Given the description of an element on the screen output the (x, y) to click on. 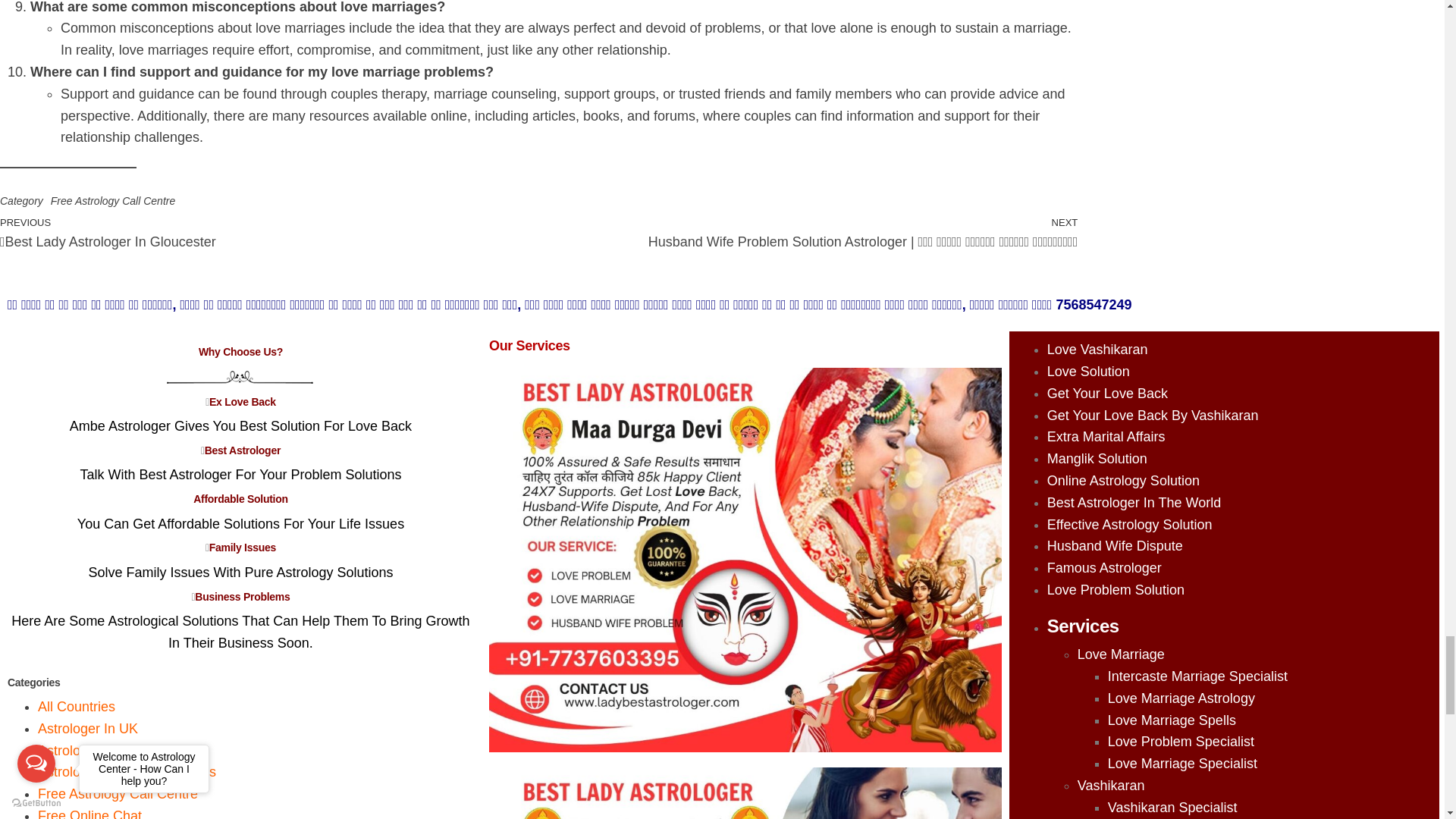
Free Astrology Call Centre (112, 200)
